Given the description of an element on the screen output the (x, y) to click on. 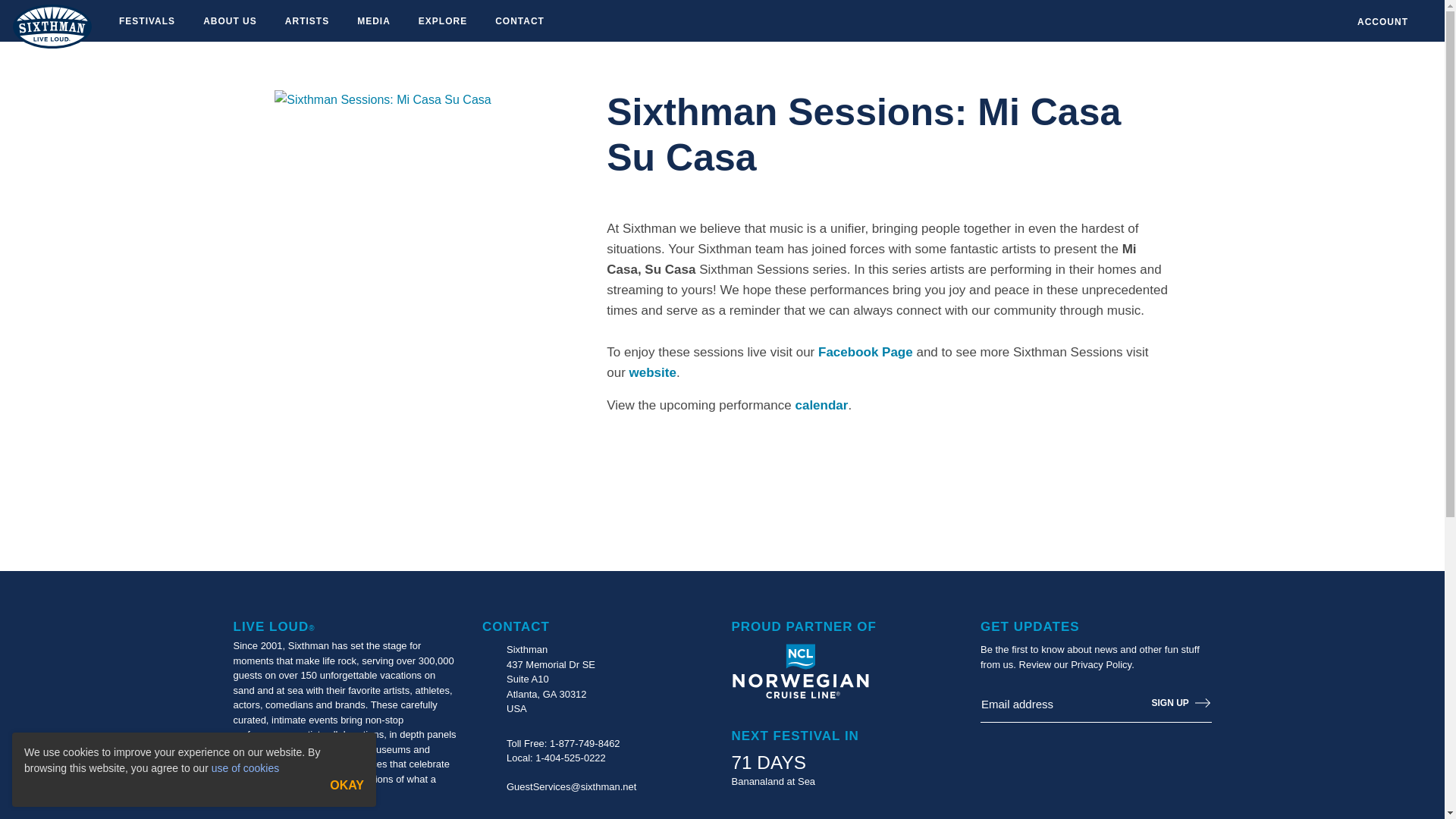
Bananaland at Sea (772, 781)
Sixthman (52, 25)
Norwegian Cruise Line (799, 671)
Sixthman Sessions: Mi Casa Su Casa (382, 98)
